Given the description of an element on the screen output the (x, y) to click on. 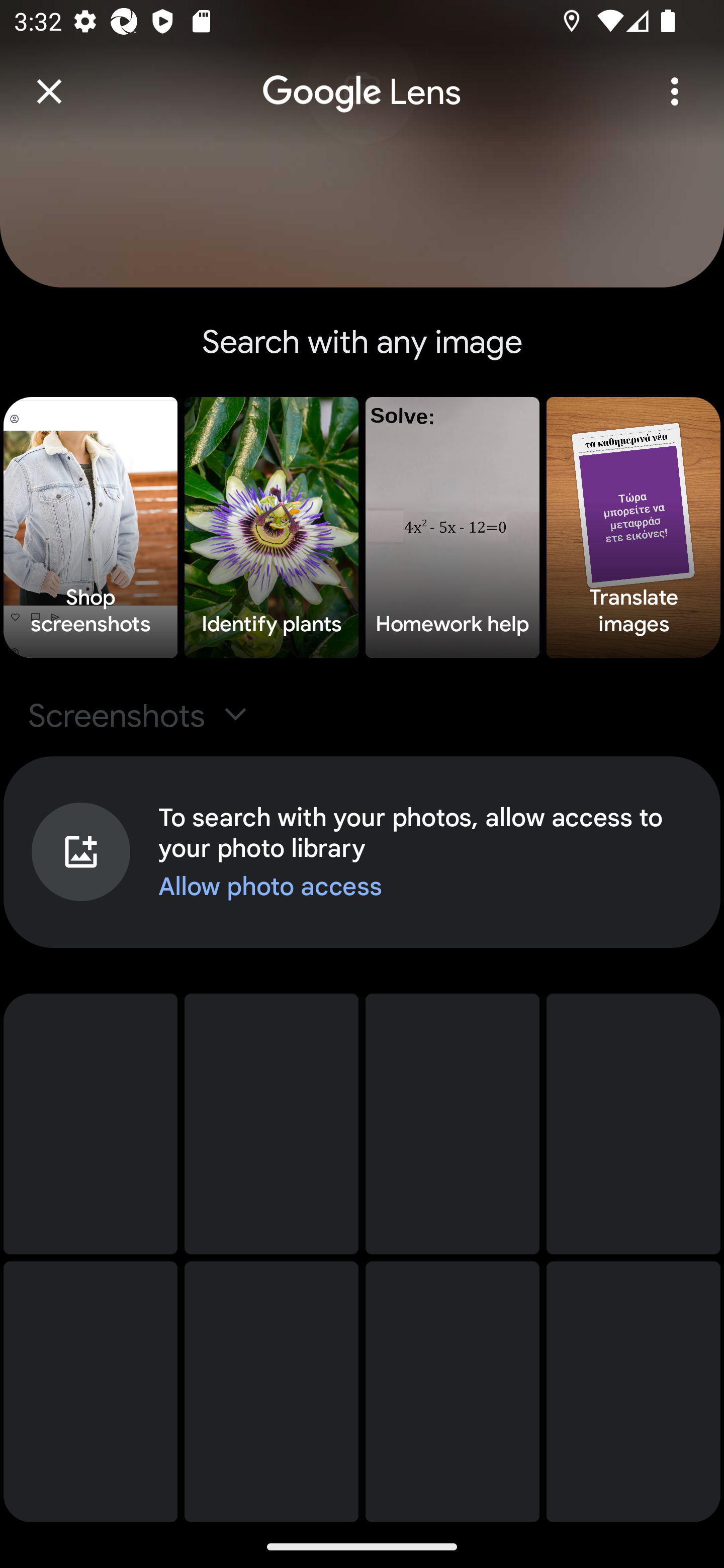
Google Lens Lens (361, 78)
Close (48, 91)
More options (674, 91)
Shop screenshots (90, 527)
Identify plants (271, 527)
Homework help (452, 527)
Translate images (633, 527)
